Given the description of an element on the screen output the (x, y) to click on. 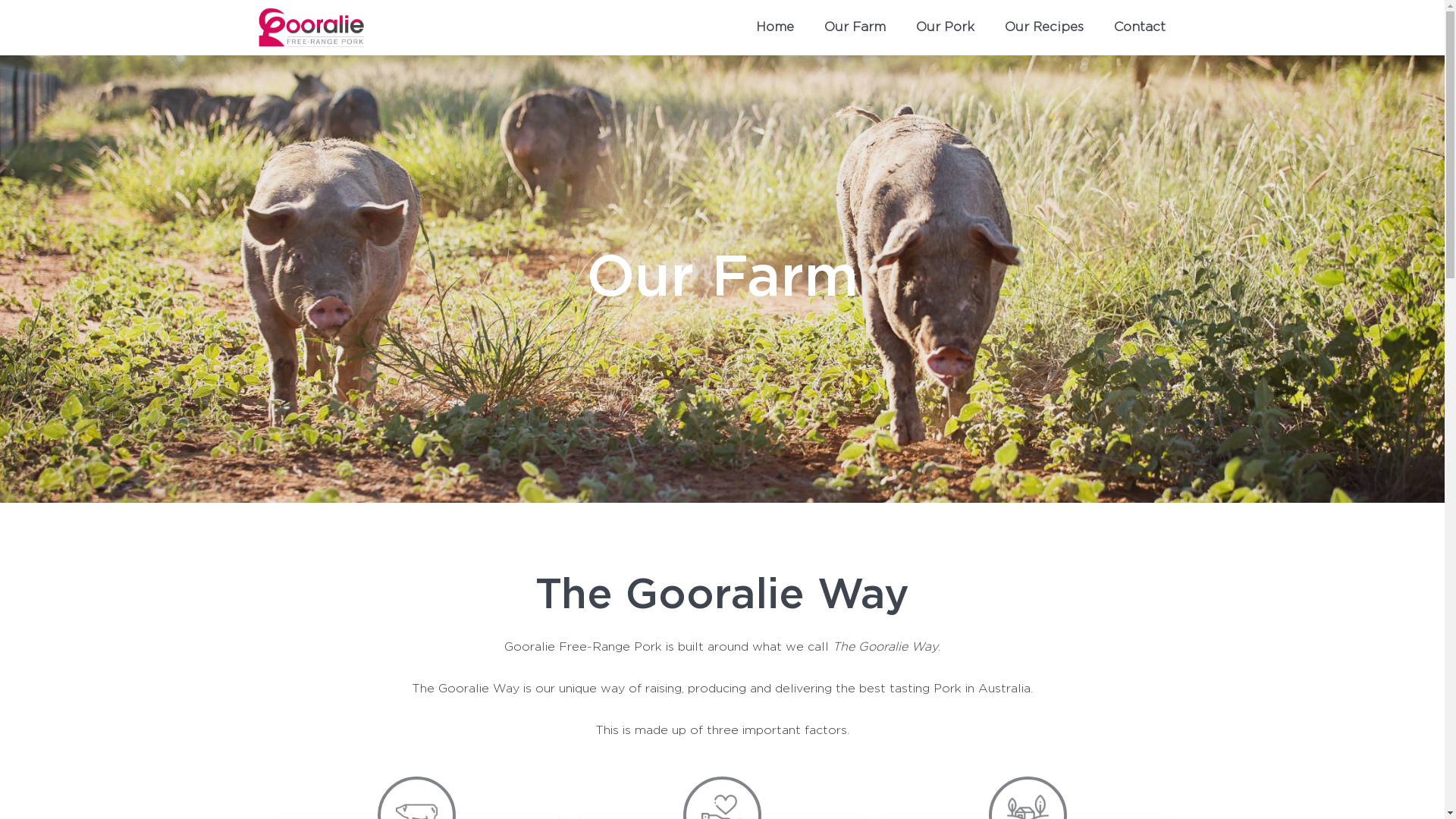
Contact Element type: text (1139, 26)
Home Element type: text (774, 26)
Our Recipes Element type: text (1043, 26)
Our Farm Element type: text (854, 26)
Our Pork Element type: text (944, 26)
